Given the description of an element on the screen output the (x, y) to click on. 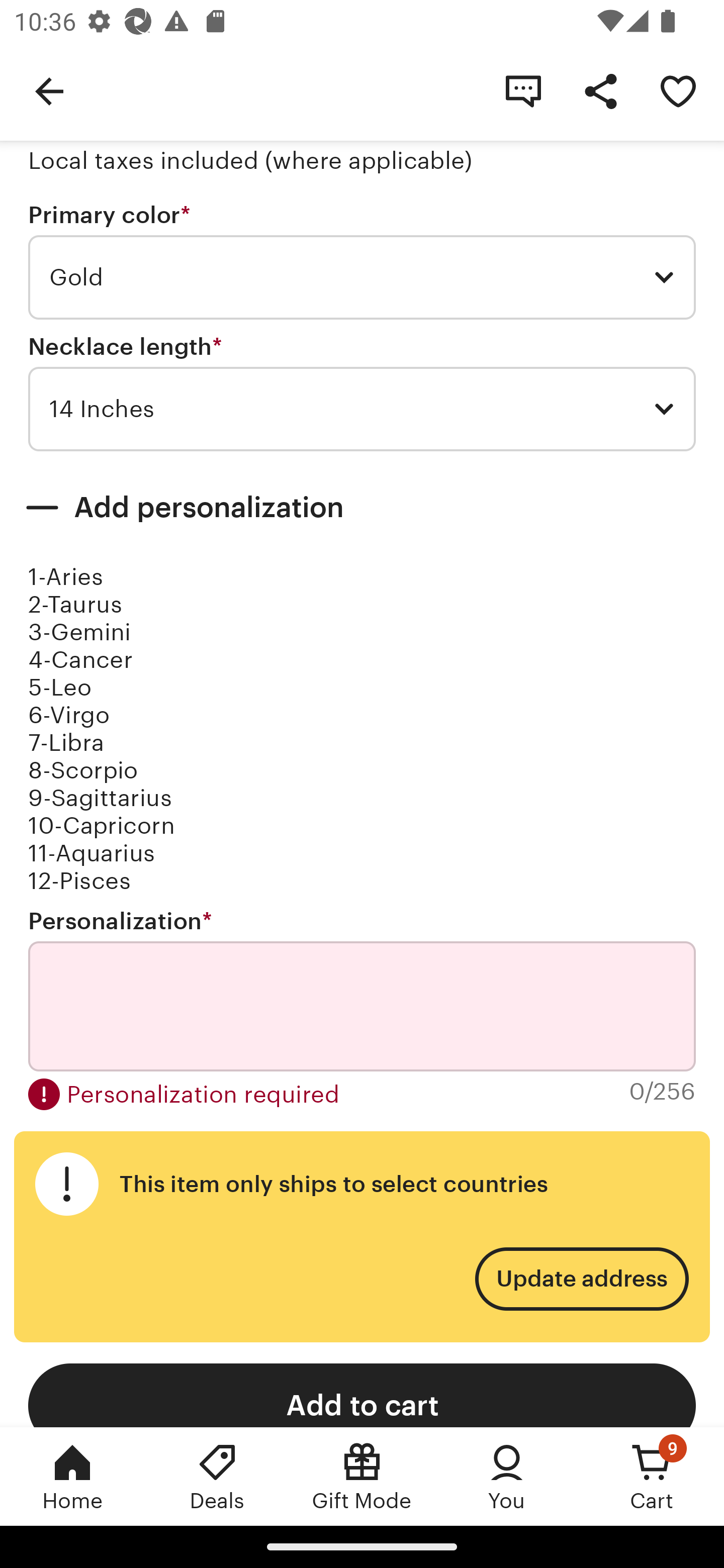
Navigate up (49, 90)
Contact shop (523, 90)
Share (600, 90)
Primary color * Required Gold (361, 260)
Gold (361, 277)
Necklace length * Required 14 Inches (361, 392)
14 Inches (361, 408)
Add personalization Add personalization Required (362, 507)
Update address (581, 1279)
Add to cart (361, 1395)
Deals (216, 1475)
Gift Mode (361, 1475)
You (506, 1475)
Cart, 9 new notifications Cart (651, 1475)
